Given the description of an element on the screen output the (x, y) to click on. 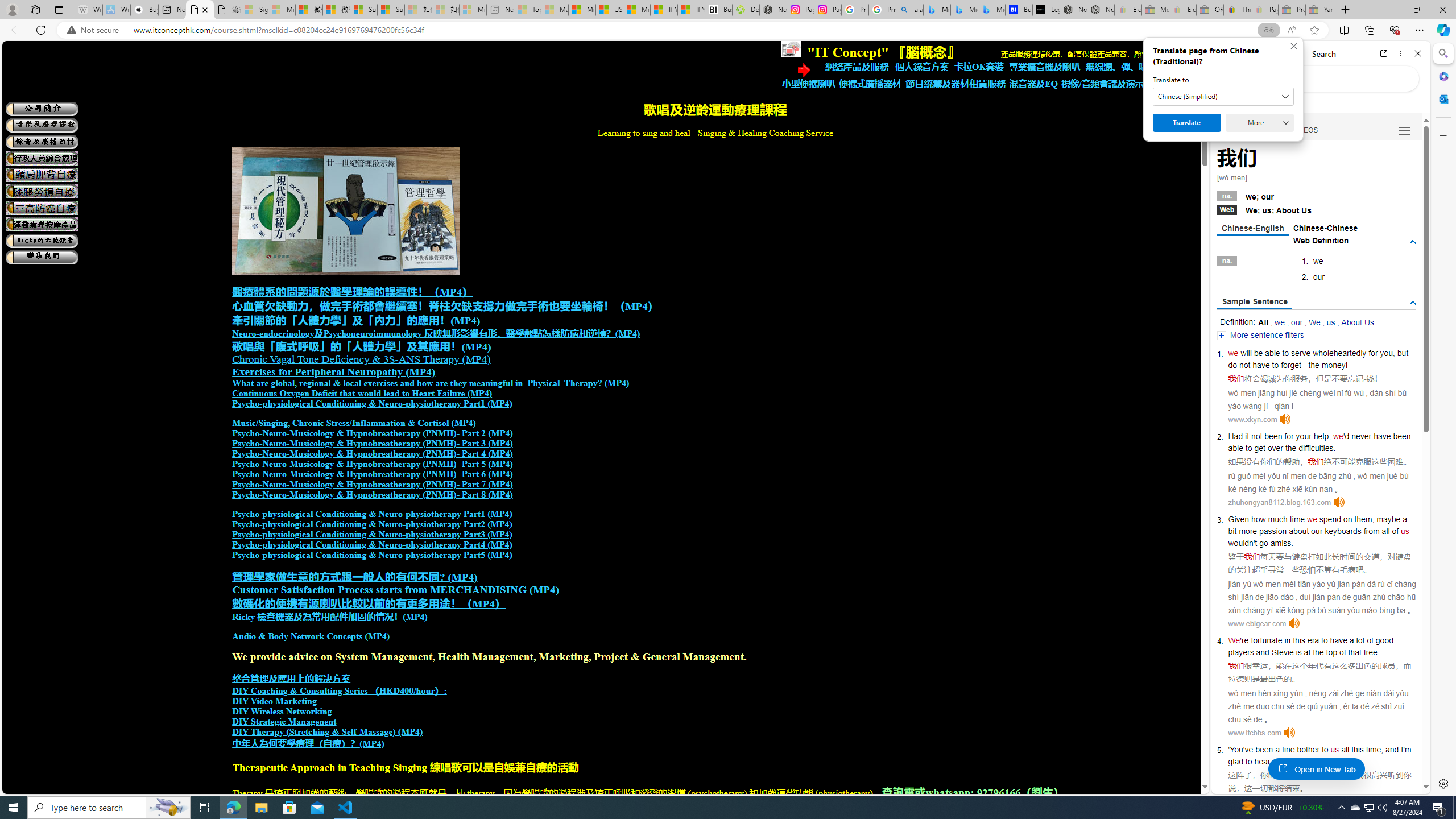
Microsoft Bing Travel - Flights from Hong Kong to Bangkok (936, 9)
is (1298, 651)
Split screen (1344, 29)
keyboards (1342, 530)
Marine life - MSN - Sleeping (554, 9)
glad (1235, 760)
